Given the description of an element on the screen output the (x, y) to click on. 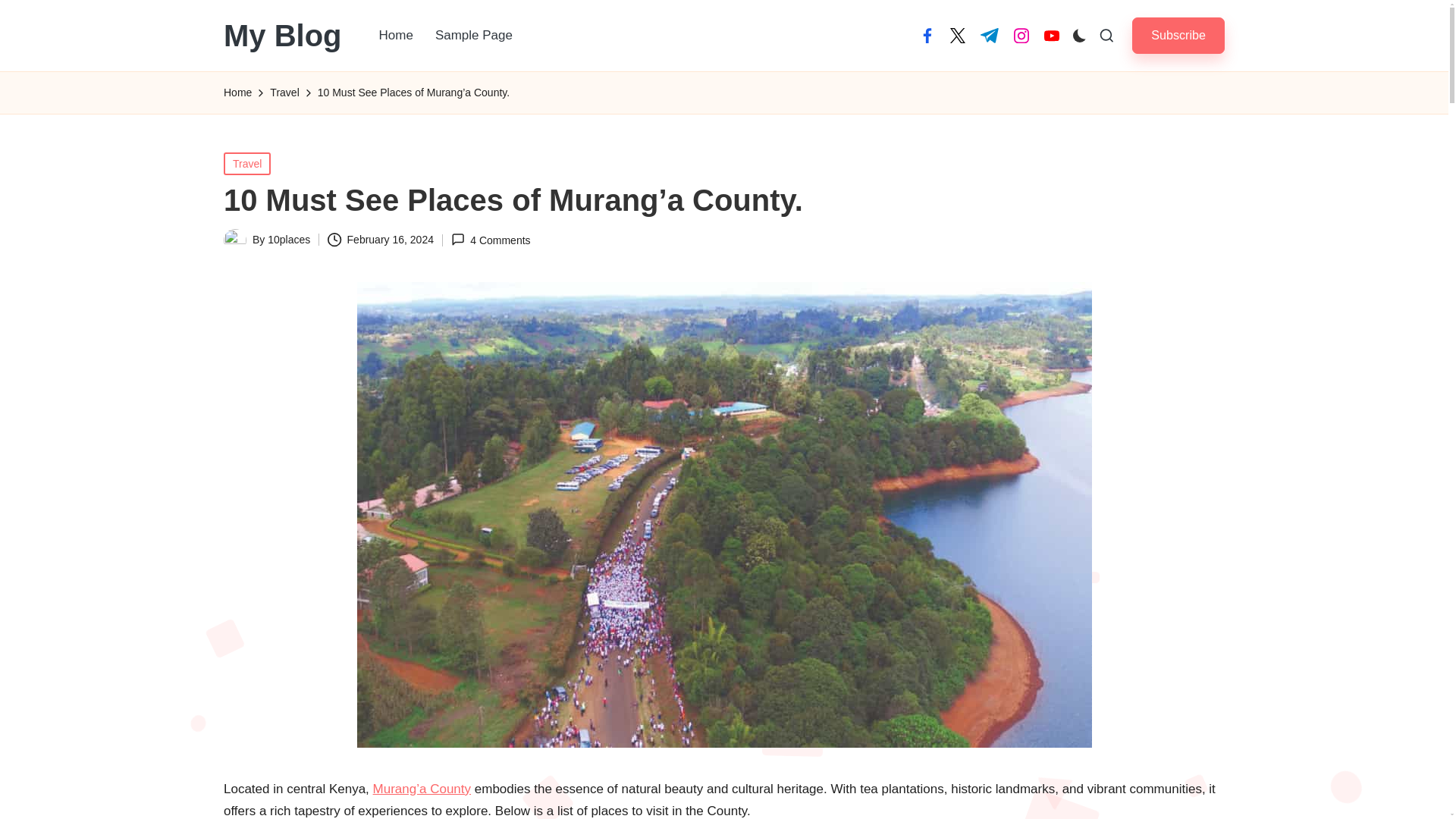
Home (237, 92)
Travel (247, 162)
instagram.com (1020, 35)
View all posts by 10places (288, 239)
twitter.com (957, 35)
facebook.com (927, 35)
My Blog (283, 35)
10places (288, 239)
youtube.com (1051, 35)
4 Comments (491, 239)
t.me (989, 35)
Subscribe (1178, 35)
Home (395, 35)
Travel (283, 92)
Sample Page (473, 35)
